Given the description of an element on the screen output the (x, y) to click on. 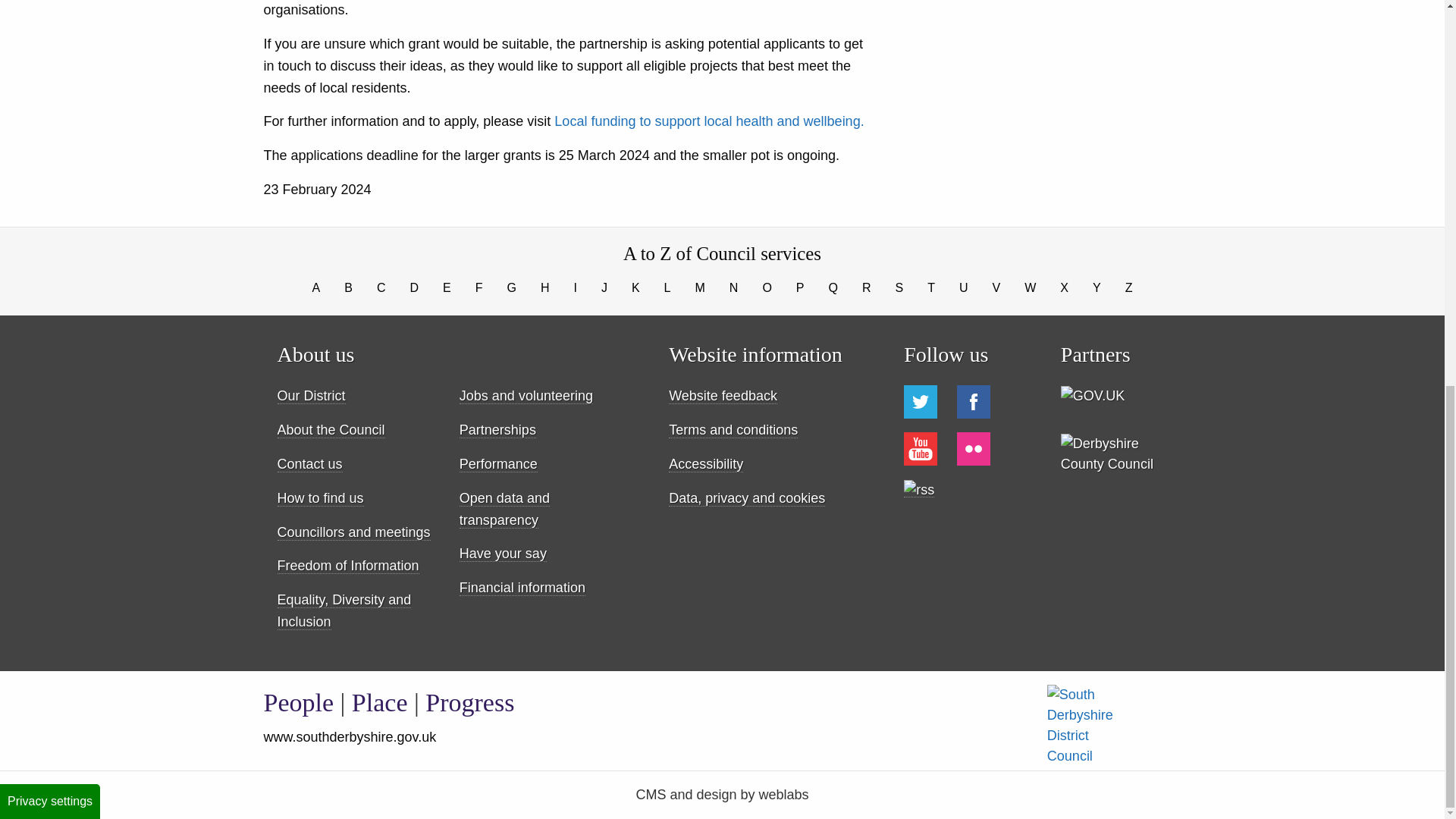
Local funding to support local health and wellbeing. (708, 120)
Review your choices regarding cookies on this web site (50, 74)
Privacy settings (50, 74)
